Given the description of an element on the screen output the (x, y) to click on. 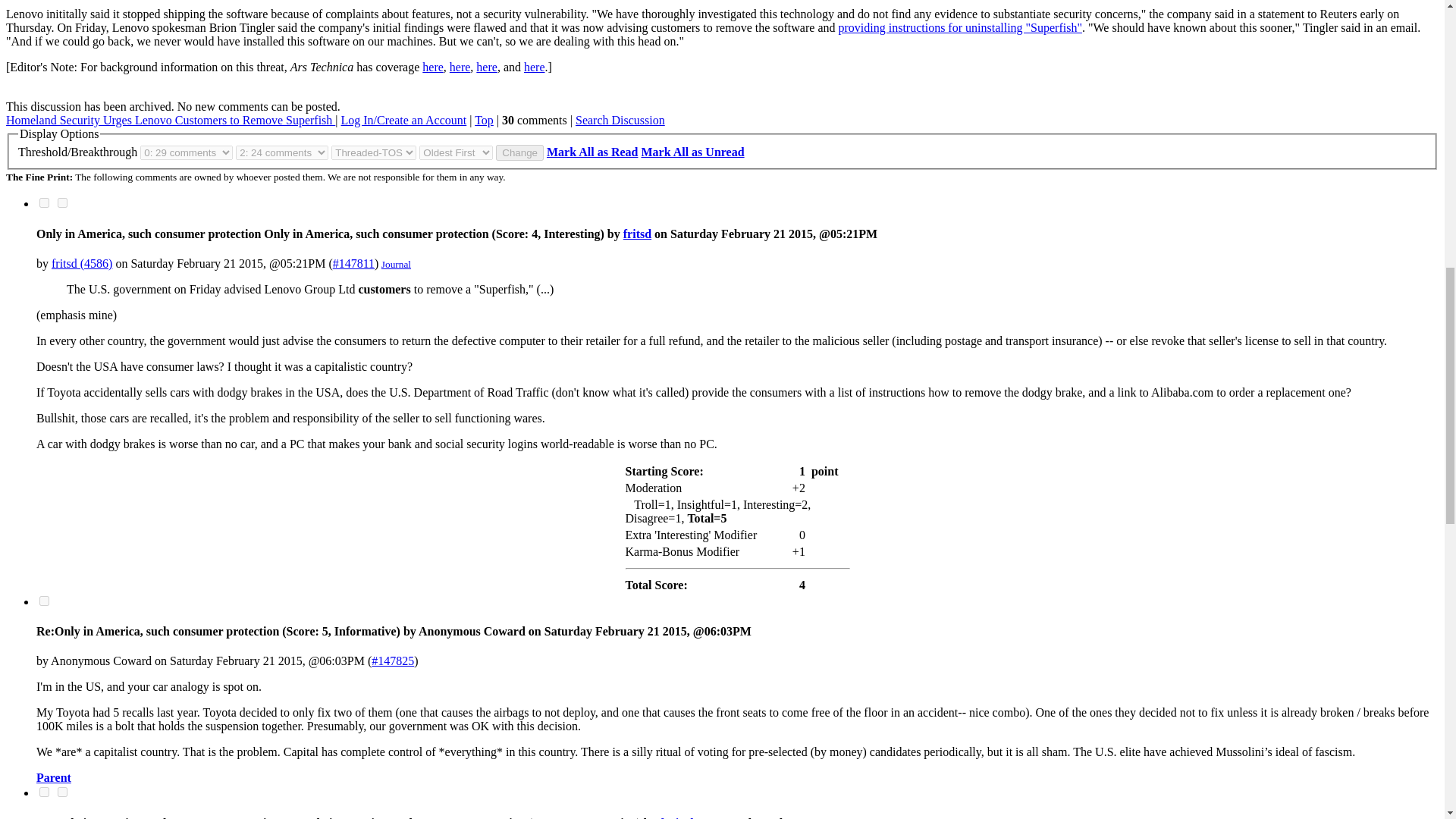
on (62, 791)
Change (519, 152)
on (44, 601)
on (44, 203)
on (44, 791)
on (62, 203)
